Given the description of an element on the screen output the (x, y) to click on. 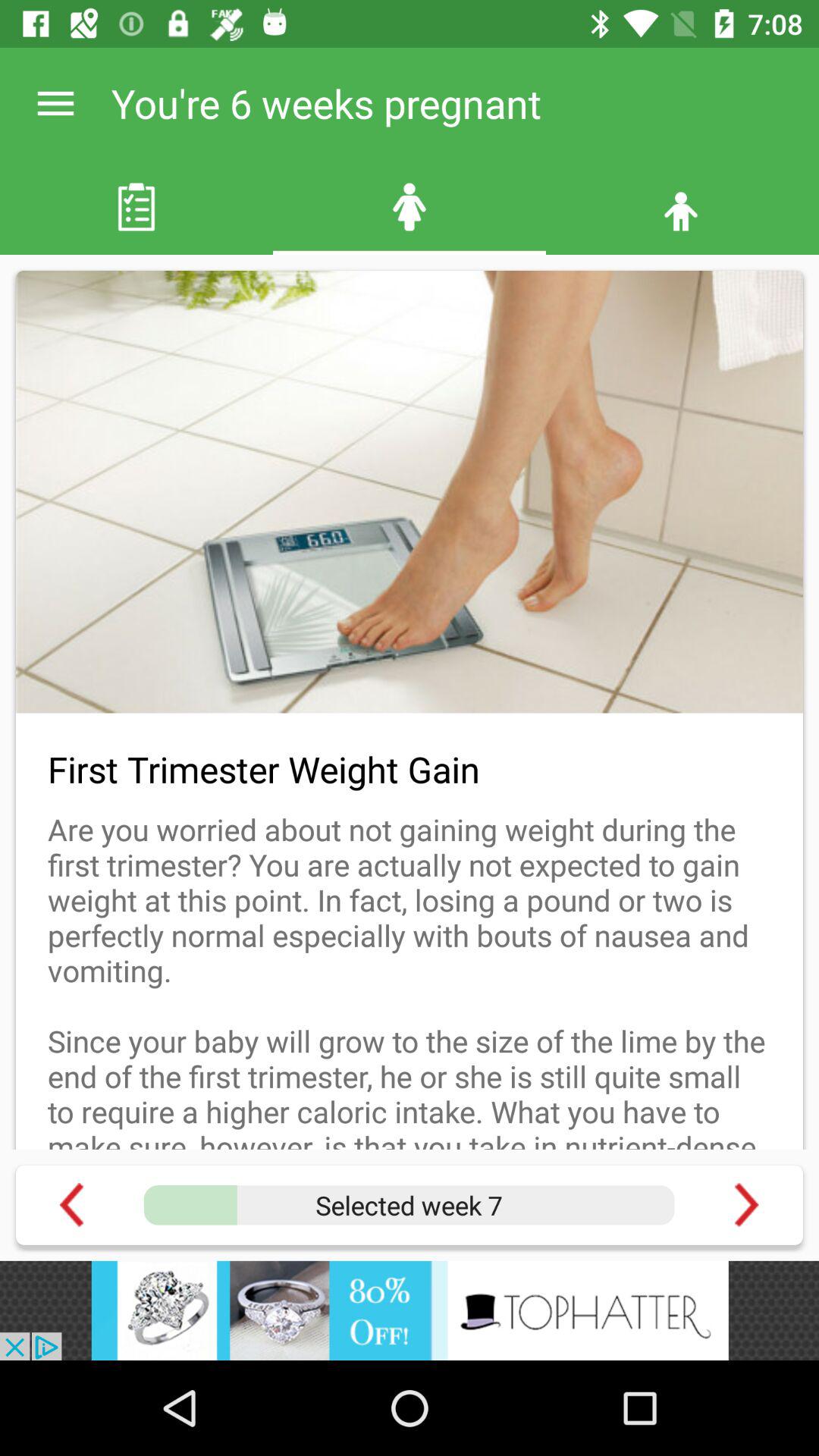
go back (71, 1204)
